Given the description of an element on the screen output the (x, y) to click on. 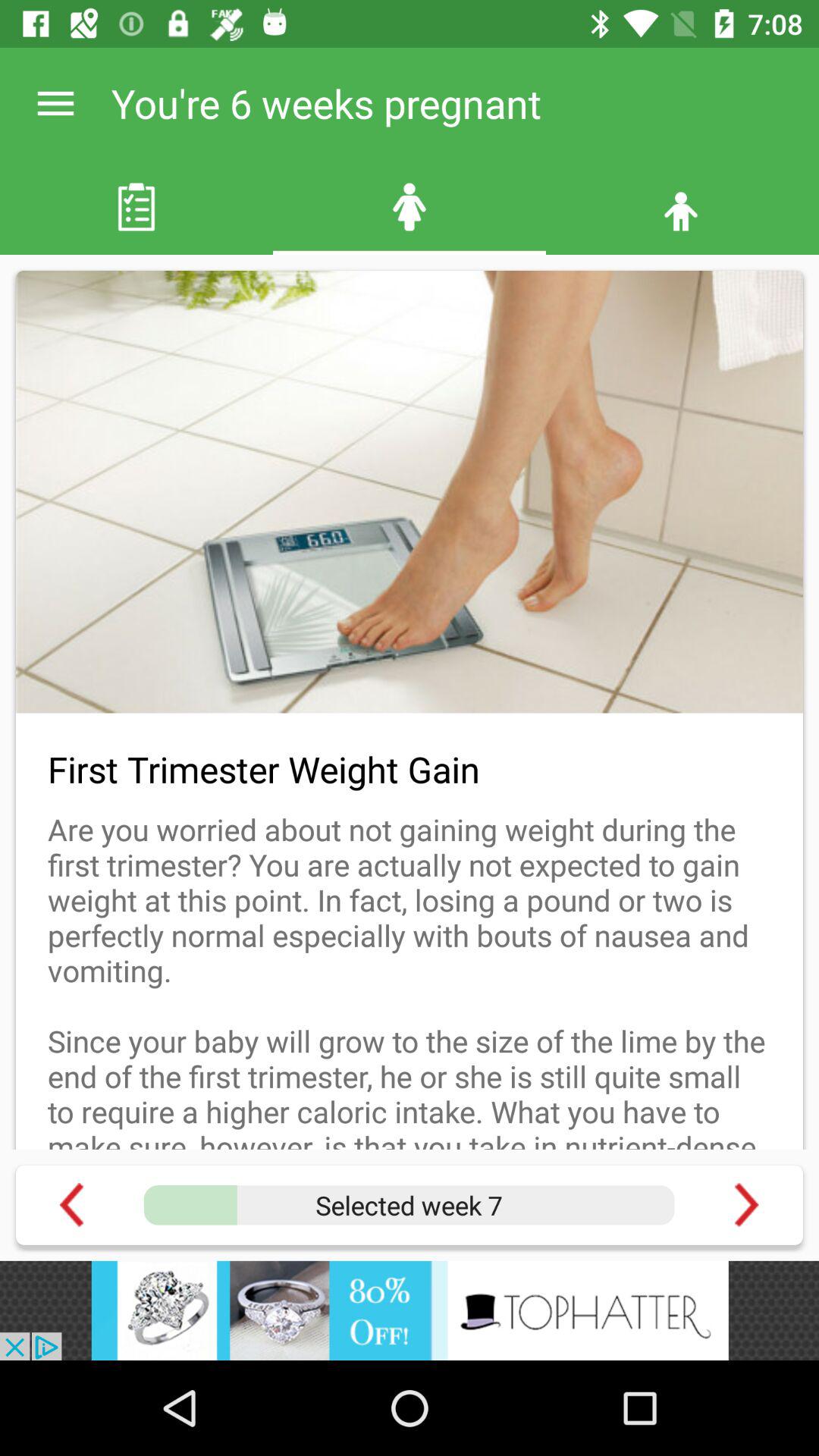
go back (71, 1204)
